Given the description of an element on the screen output the (x, y) to click on. 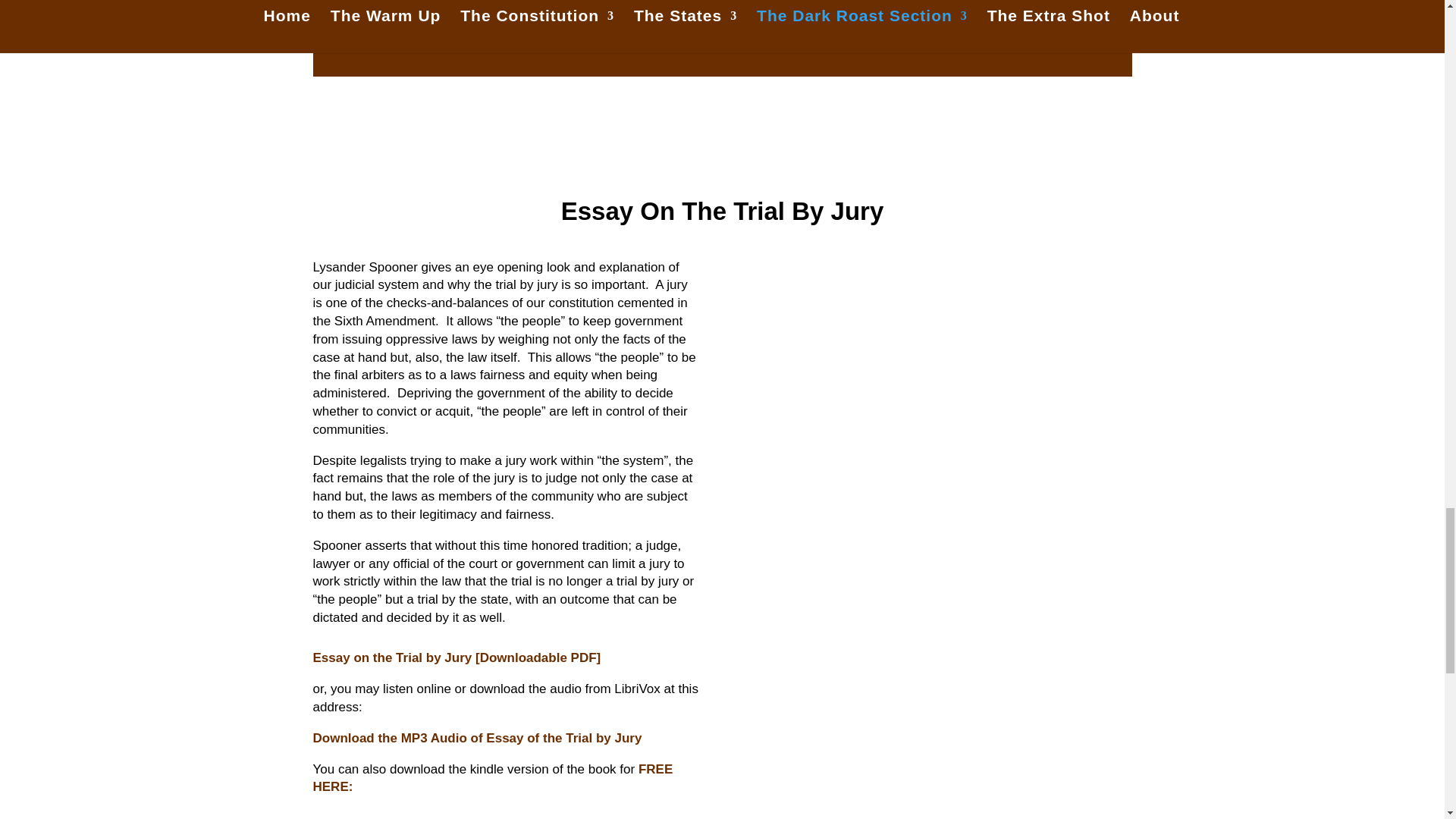
Download the MP3 Audio of Essay of the Trial by Jury (477, 738)
Flourish 5 (722, 140)
FREE HERE: (492, 778)
